Given the description of an element on the screen output the (x, y) to click on. 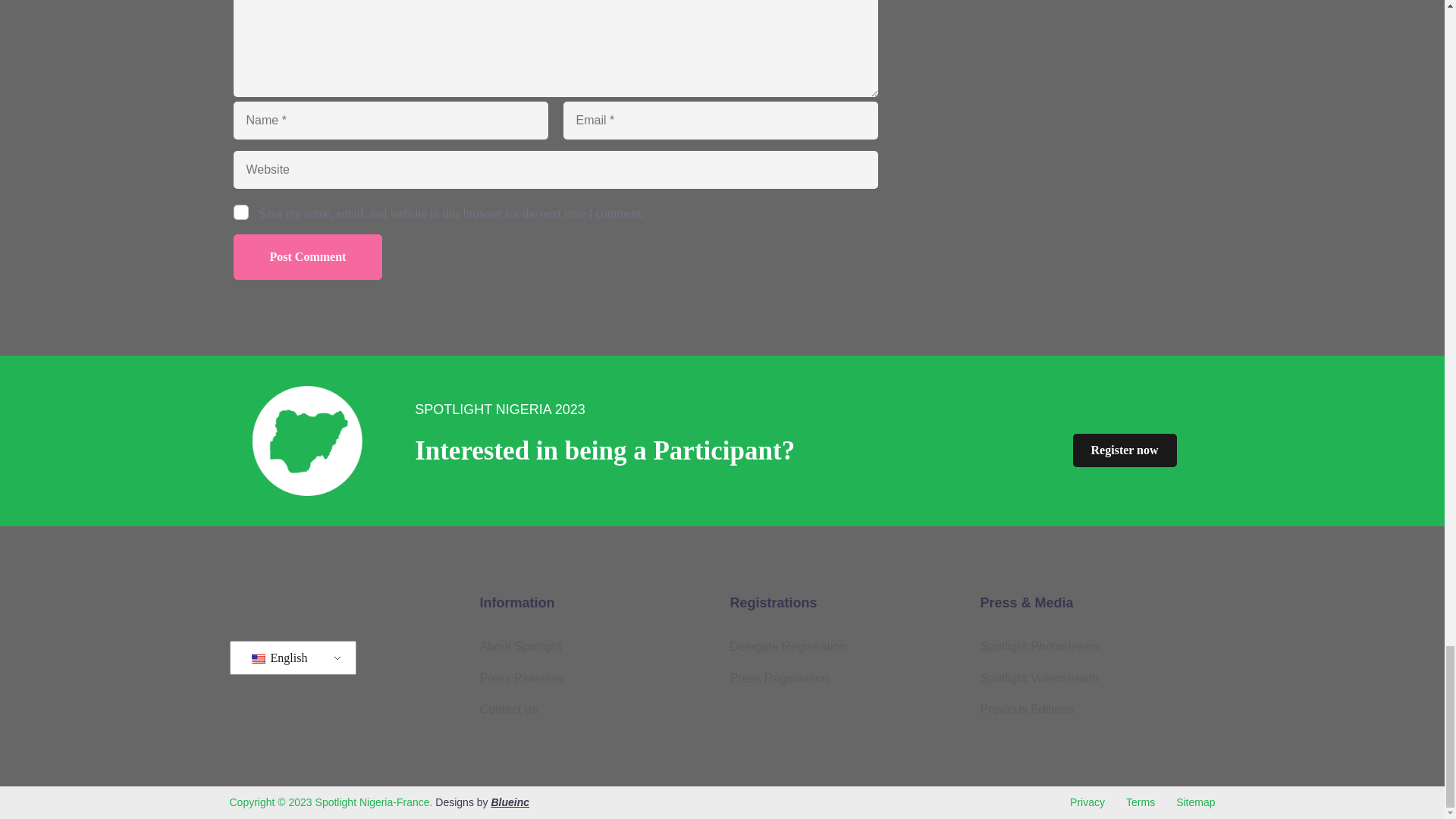
Post Comment (307, 257)
English (257, 658)
English (289, 657)
